Given the description of an element on the screen output the (x, y) to click on. 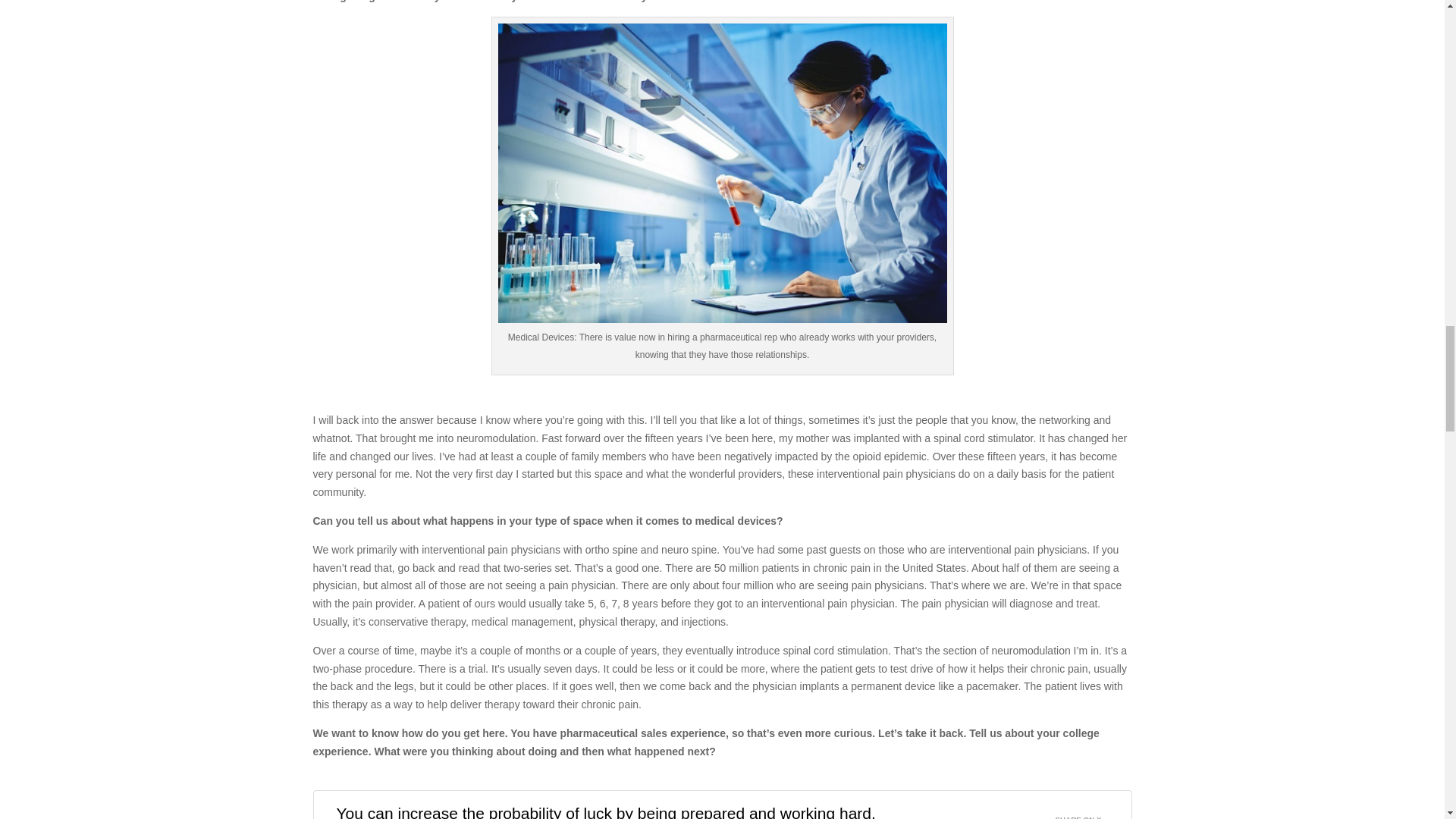
SHARE ON X (1087, 810)
46MSPCaption1 - Evolve Your Success (721, 172)
